Given the description of an element on the screen output the (x, y) to click on. 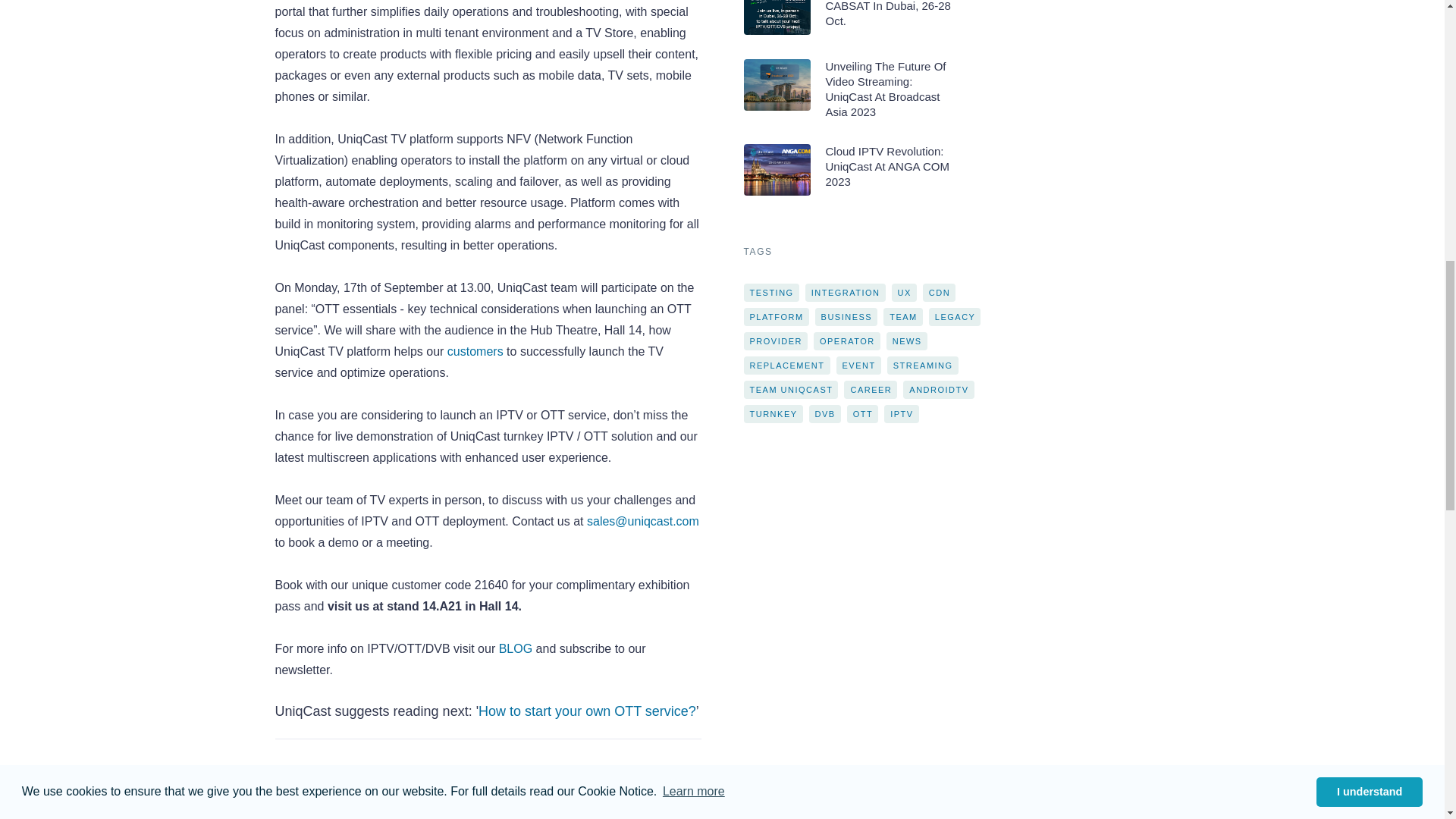
customers (474, 350)
REPLACEMENT (462, 782)
How to start your own OTT service? (587, 711)
LEGACY (538, 782)
NEWS (392, 782)
BLOG (513, 648)
